Given the description of an element on the screen output the (x, y) to click on. 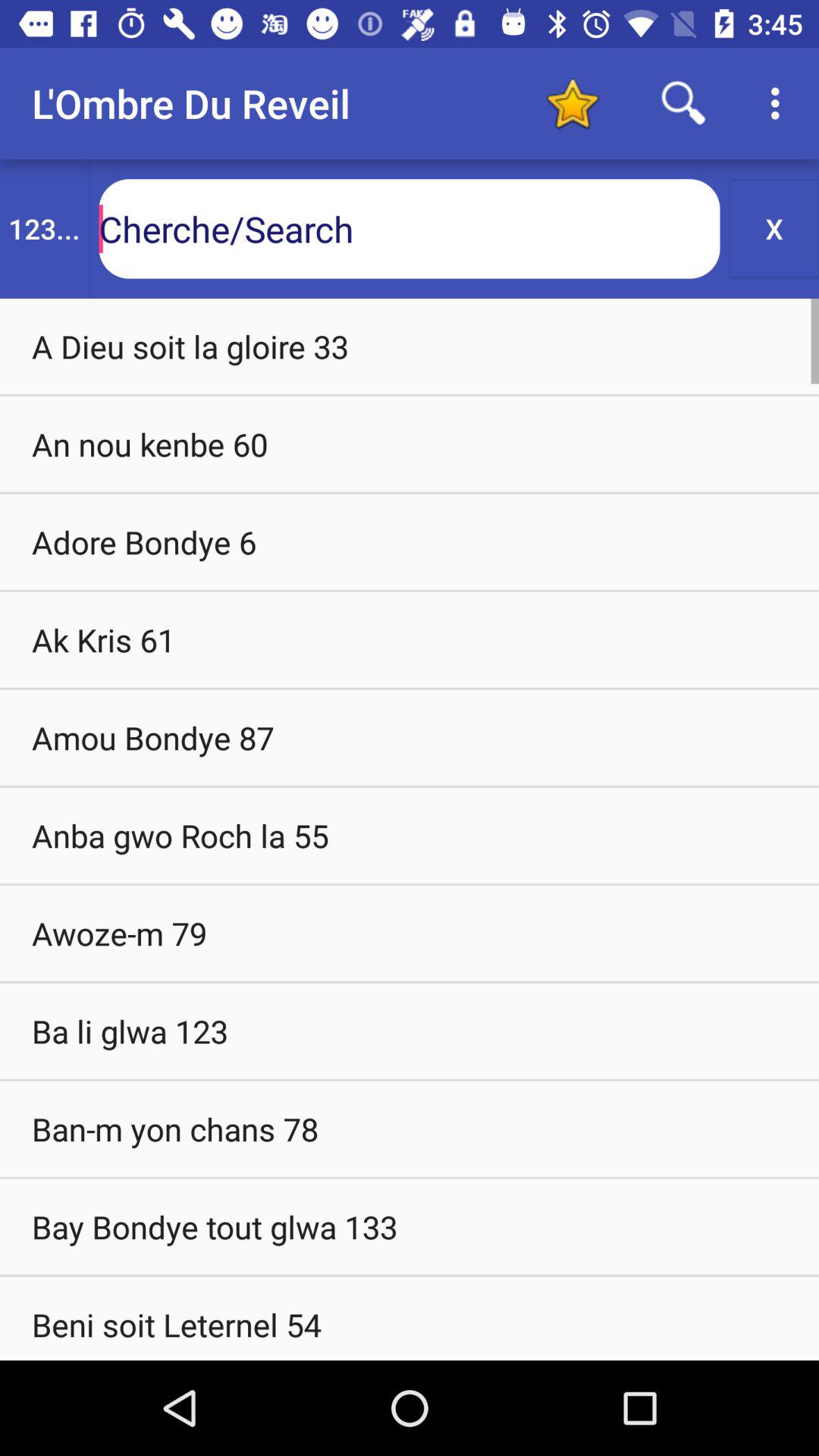
flip until the anba gwo roch icon (409, 835)
